Given the description of an element on the screen output the (x, y) to click on. 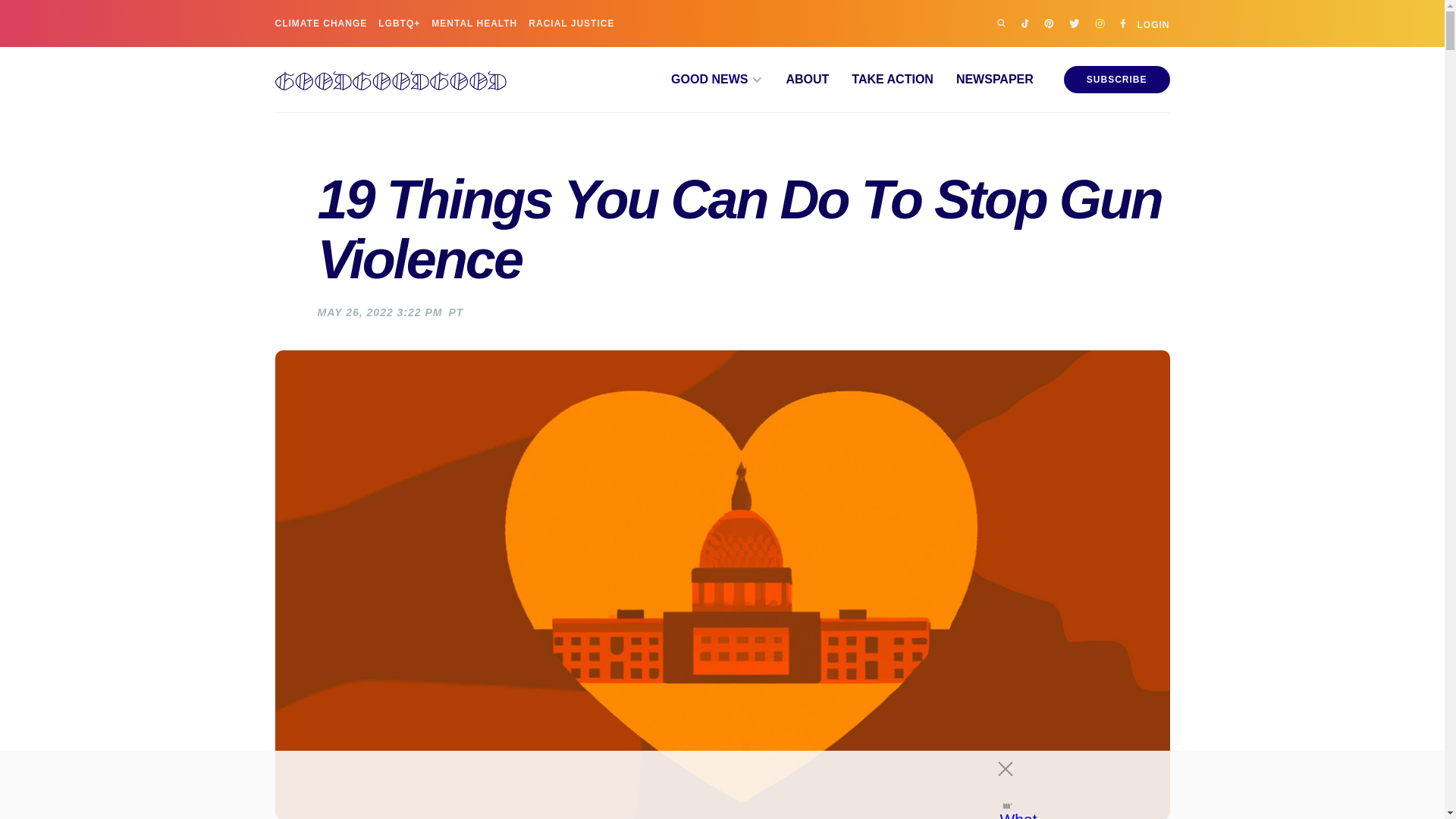
RACIAL JUSTICE (571, 22)
SUBSCRIBE (1117, 79)
3rd party ad content (708, 785)
CLIMATE CHANGE (320, 22)
TAKE ACTION (880, 79)
MENTAL HEALTH (473, 22)
LOGIN (1153, 23)
NEWSPAPER (983, 79)
ABOUT (795, 79)
